Given the description of an element on the screen output the (x, y) to click on. 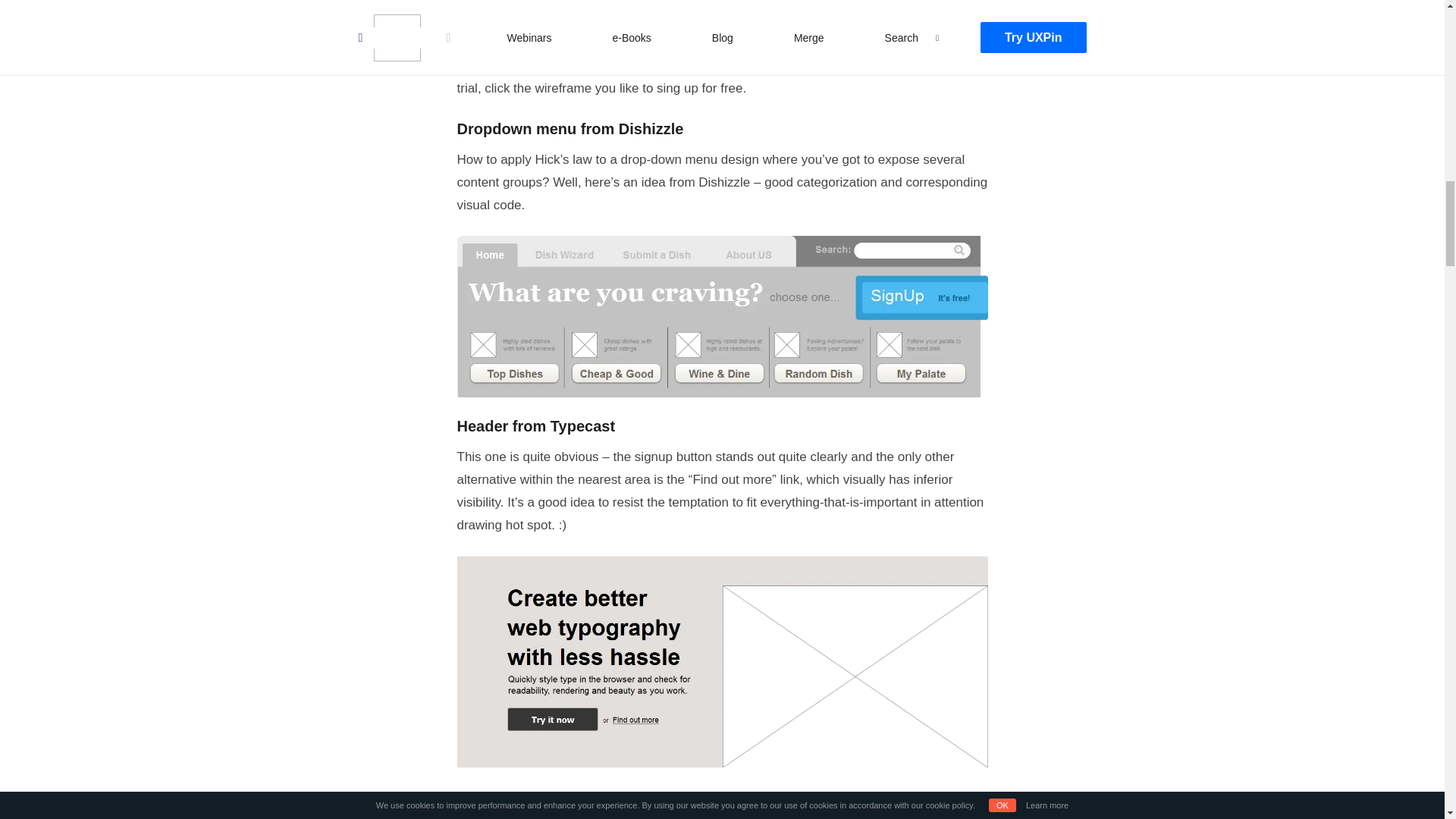
UXPin - wireframing and UX design tool (785, 65)
UXPin (785, 65)
